Given the description of an element on the screen output the (x, y) to click on. 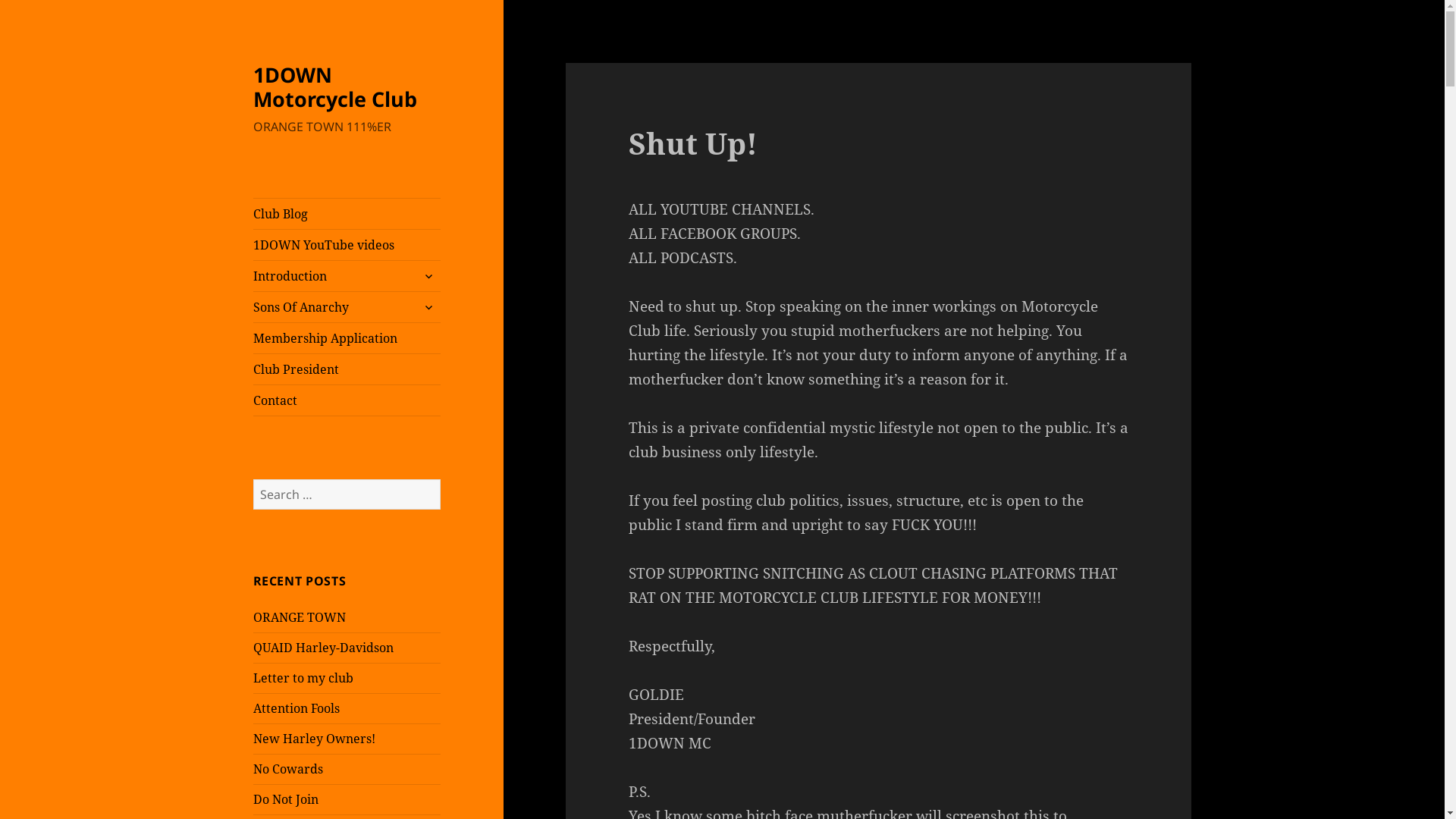
Club President Element type: text (347, 369)
New Harley Owners! Element type: text (314, 738)
Search Element type: text (439, 478)
expand child menu Element type: text (428, 275)
Contact Element type: text (347, 400)
ORANGE TOWN Element type: text (299, 616)
Sons Of Anarchy Element type: text (347, 306)
1DOWN YouTube videos Element type: text (347, 244)
expand child menu Element type: text (428, 306)
Letter to my club Element type: text (303, 677)
No Cowards Element type: text (288, 768)
Membership Application Element type: text (347, 338)
Attention Fools Element type: text (296, 707)
QUAID Harley-Davidson Element type: text (323, 647)
Club Blog Element type: text (347, 213)
Do Not Join Element type: text (285, 798)
Introduction Element type: text (347, 275)
1DOWN Motorcycle Club Element type: text (335, 86)
